Given the description of an element on the screen output the (x, y) to click on. 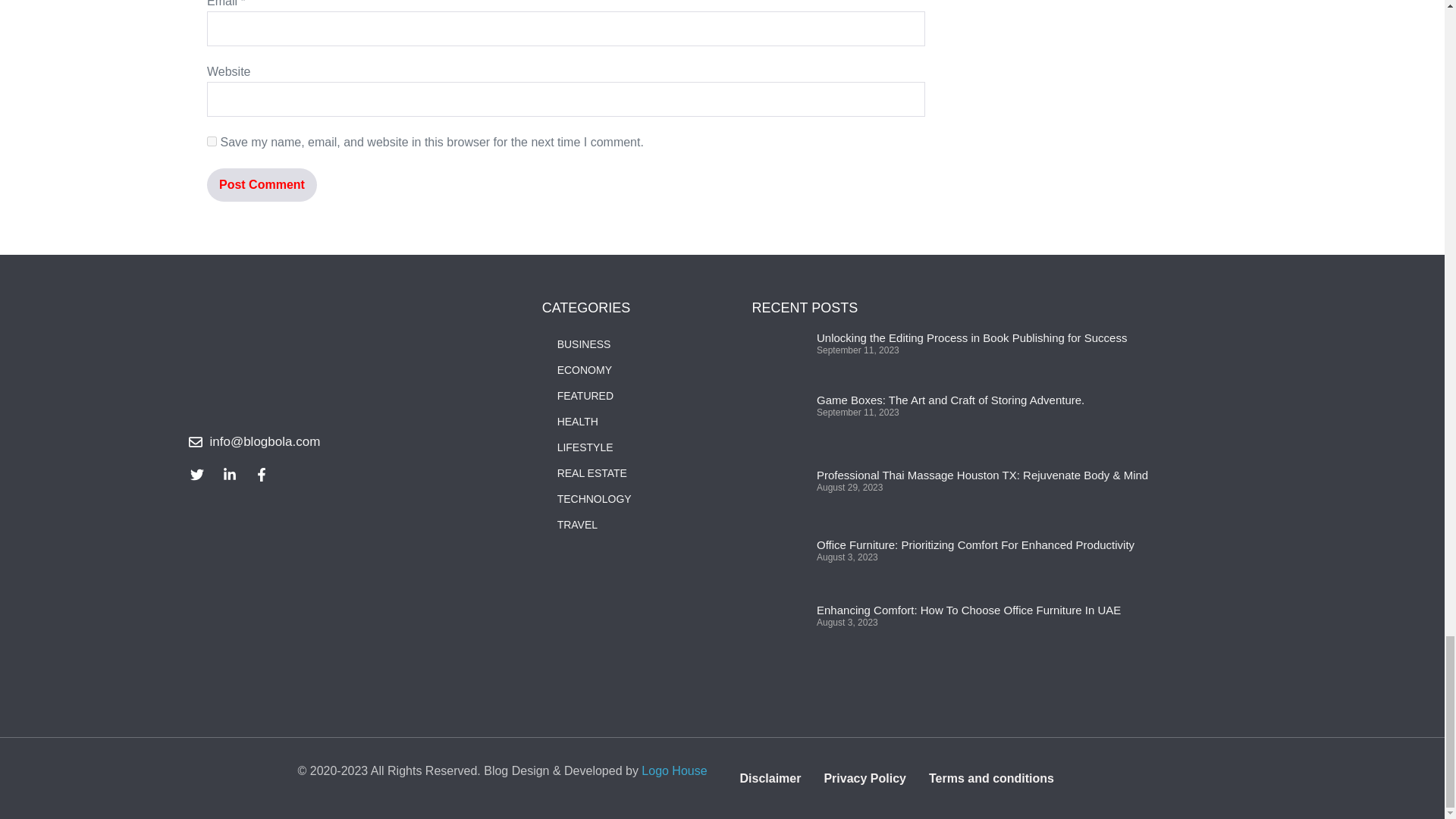
Post Comment (261, 184)
yes (211, 141)
Post Comment (261, 184)
